Given the description of an element on the screen output the (x, y) to click on. 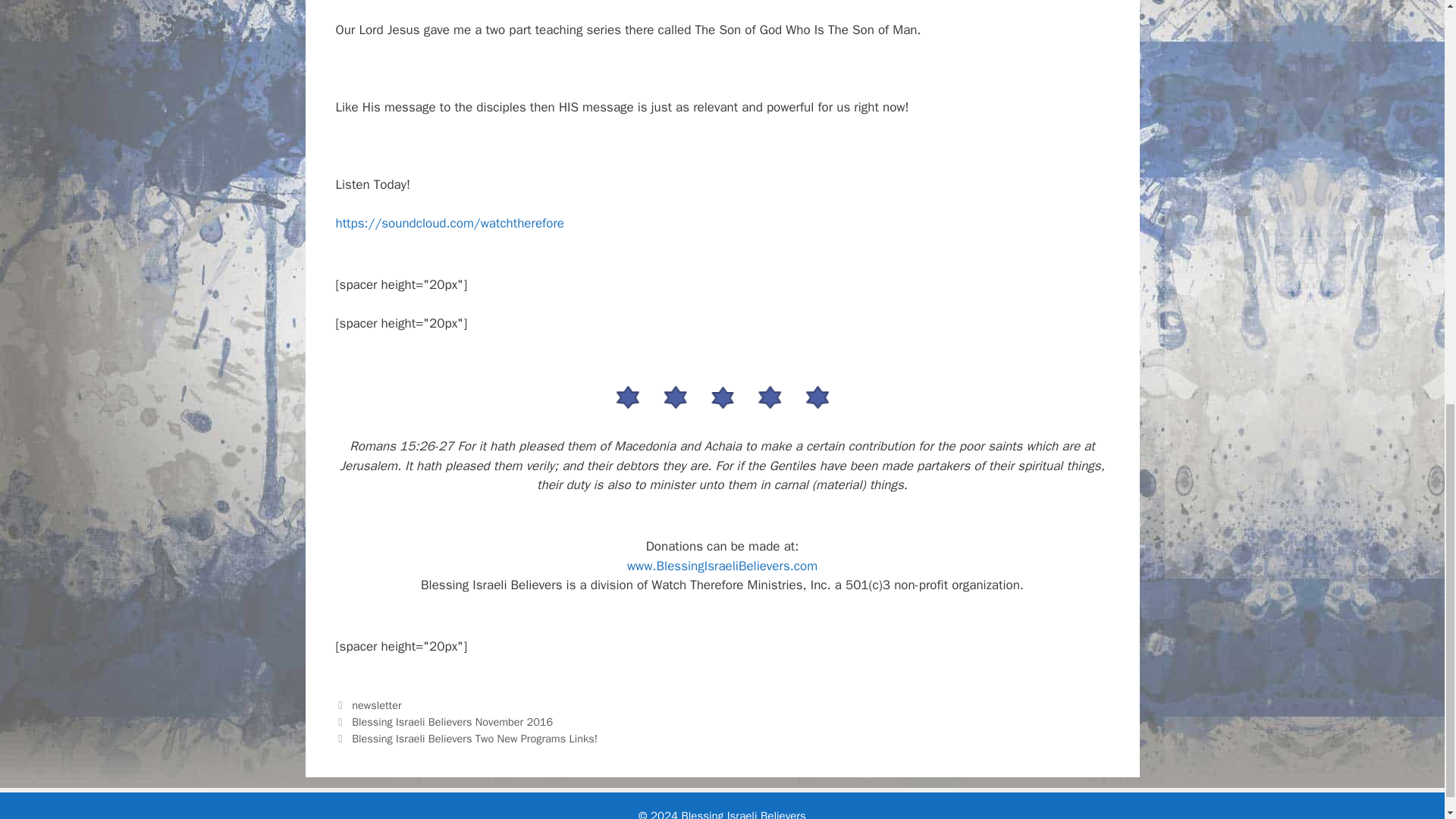
www.BlessingIsraeliBelievers.com (721, 565)
Blessing Israeli Believers Two New Programs Links! (474, 738)
Blessing Israeli Believers November 2016 (452, 721)
newsletter (376, 704)
